Given the description of an element on the screen output the (x, y) to click on. 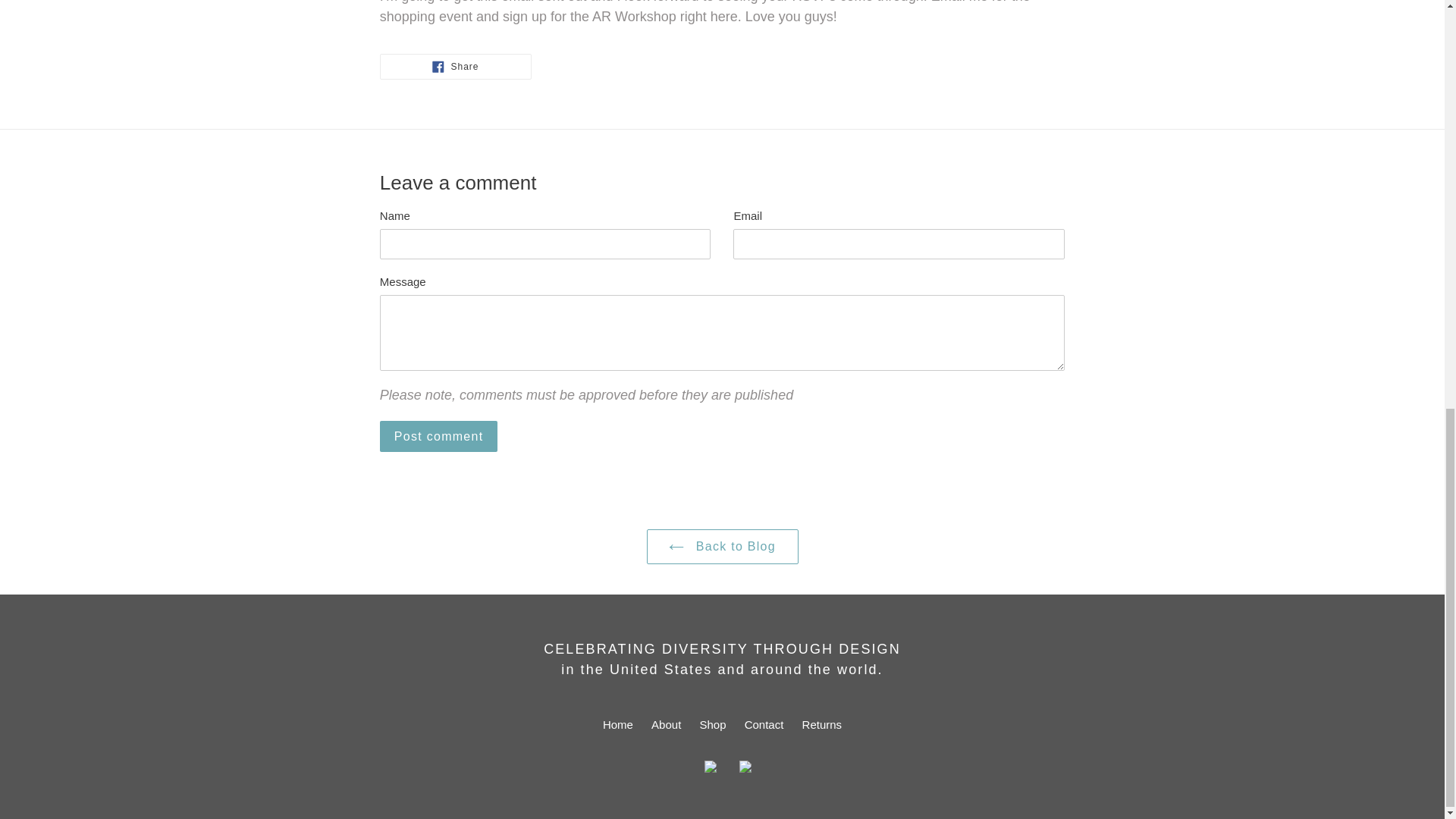
Contact (764, 725)
Home (455, 65)
Shop (617, 725)
Post comment (712, 725)
Post comment (438, 435)
Returns (438, 435)
Back to Blog (822, 725)
About (721, 546)
